Given the description of an element on the screen output the (x, y) to click on. 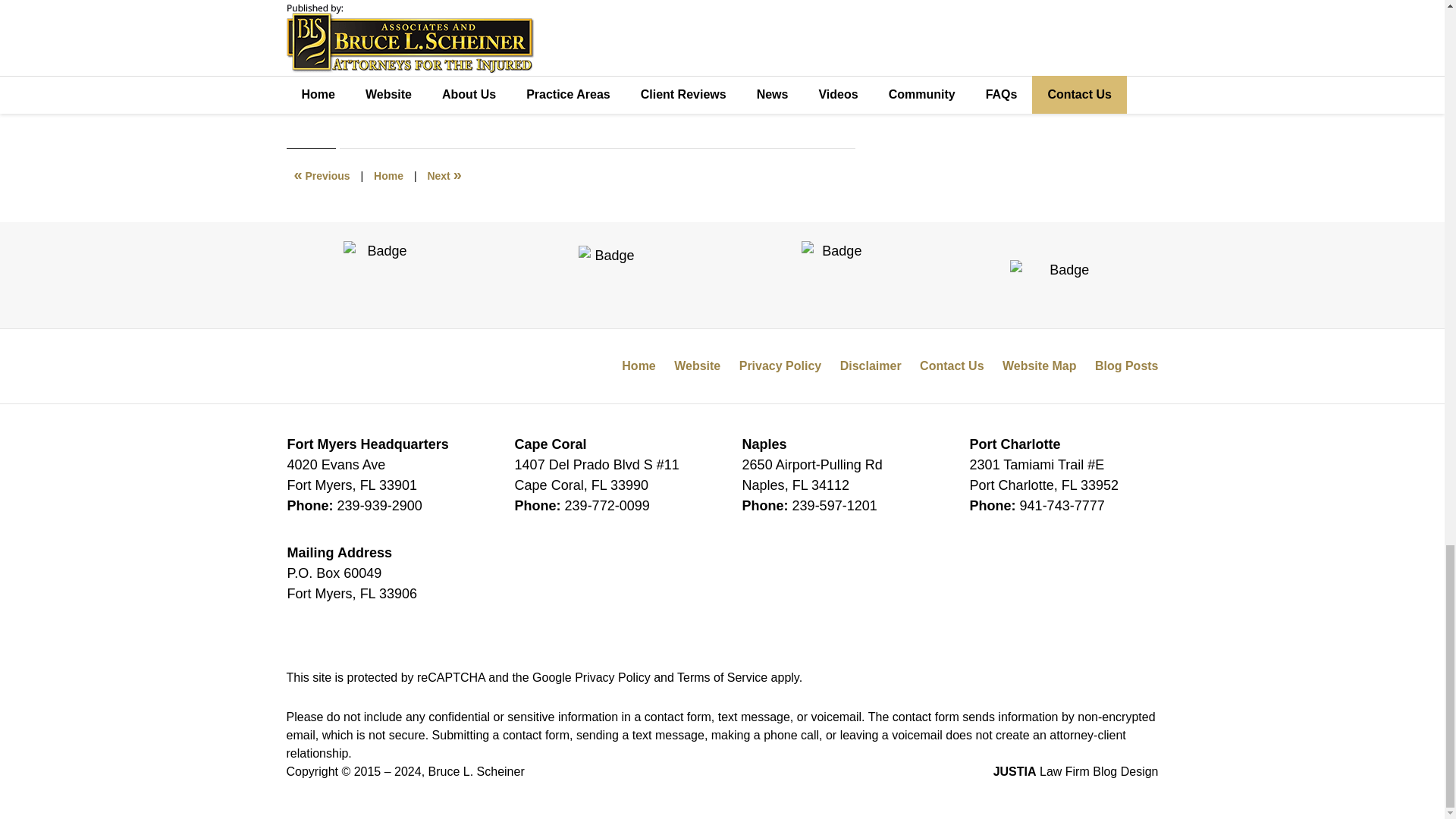
truck accident Florida (624, 73)
injury Fort Myers (520, 73)
Fort Myers trucking accident (398, 73)
View all posts tagged with injury Fort Myers (520, 73)
View all posts tagged with Truck accident injury Fort Myers (560, 81)
Home (388, 175)
View all posts tagged with truck accident Florida (624, 73)
Trucking Accidents (384, 57)
View all posts tagged with Fort Myers trucking accident (398, 73)
Truck accident injury Fort Myers (560, 81)
